Given the description of an element on the screen output the (x, y) to click on. 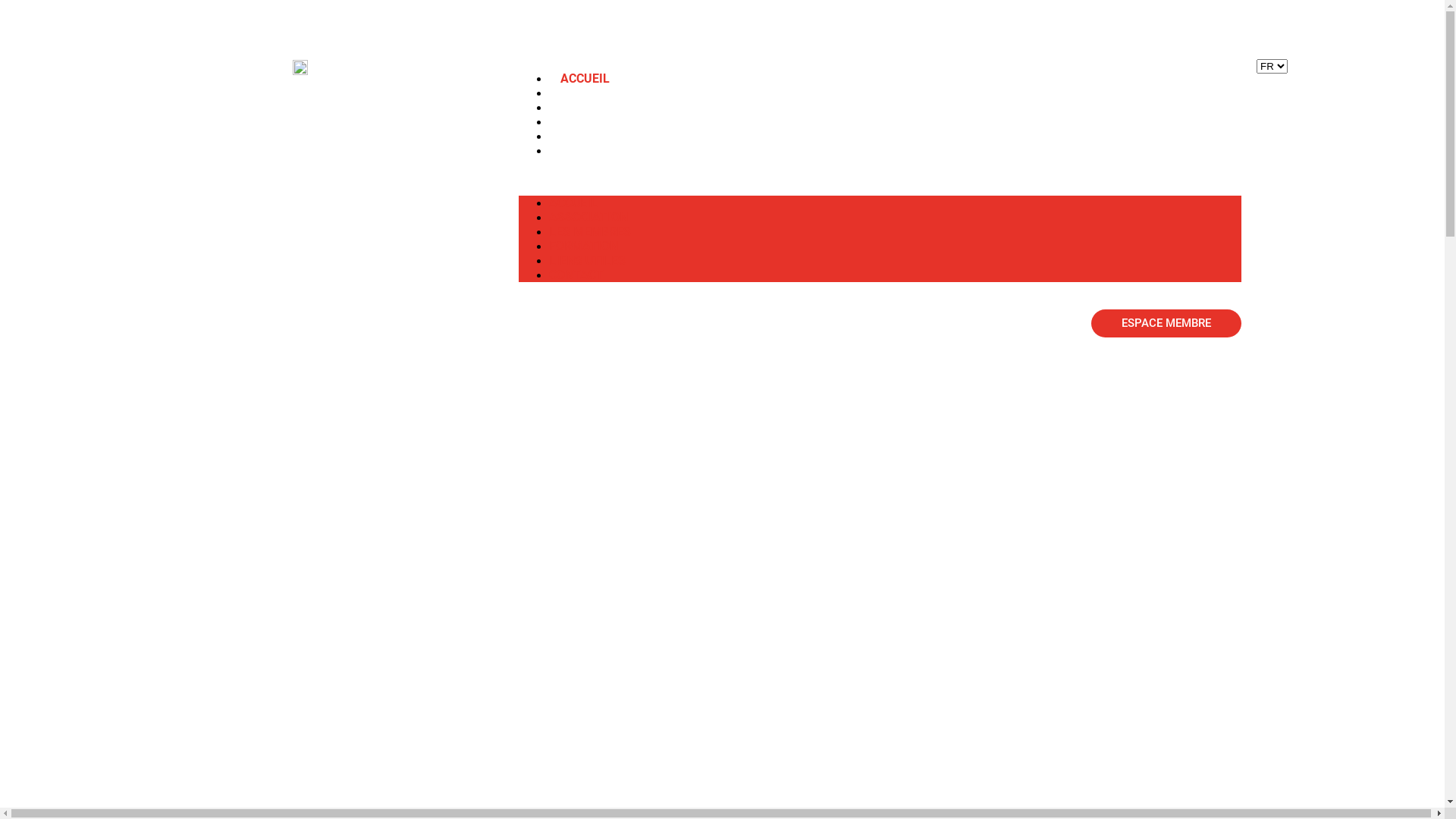
CONTACT Element type: text (587, 150)
ACCUEIL Element type: text (573, 202)
LES MEMBRES Element type: text (601, 107)
ASSOCIATION Element type: text (588, 217)
ACCUEIL Element type: text (585, 78)
FORMATION Element type: text (583, 245)
CONTACT Element type: text (576, 274)
FORMATION Element type: text (594, 121)
LIENS UTILES Element type: text (587, 260)
LES MEMBRES Element type: text (589, 231)
ASSOCIATION Element type: text (599, 92)
ESPACE MEMBRE Element type: text (1166, 323)
LIENS UTILES Element type: text (599, 135)
